Given the description of an element on the screen output the (x, y) to click on. 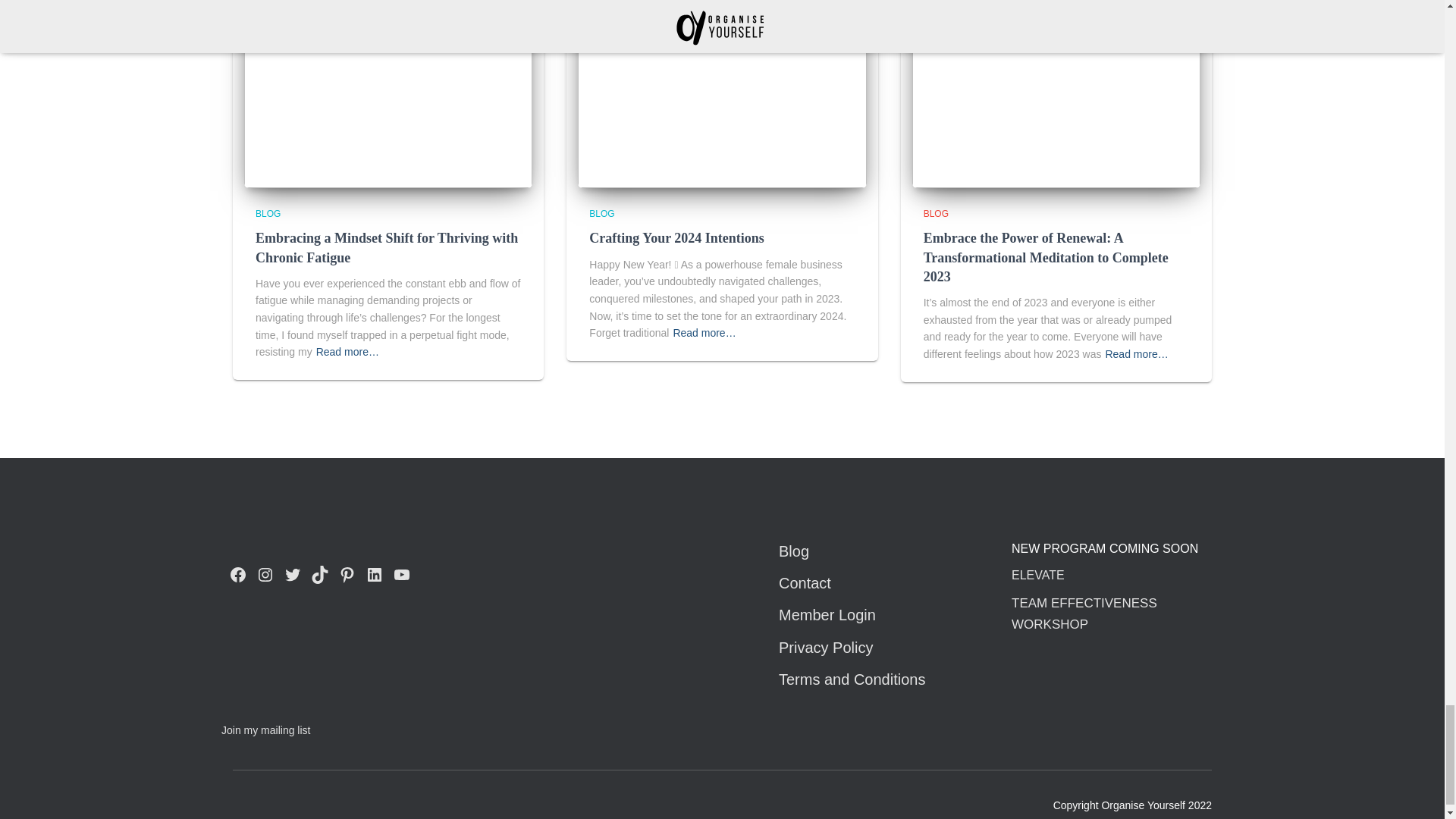
Embracing a Mindset Shift for Thriving with Chronic Fatigue (387, 247)
Crafting Your 2024 Intentions (676, 237)
BLOG (268, 213)
View all posts in Blog (601, 213)
View all posts in Blog (936, 213)
Crafting Your 2024 Intentions (722, 91)
View all posts in Blog (268, 213)
Embracing a Mindset Shift for Thriving with Chronic Fatigue (387, 247)
Embracing a Mindset Shift for Thriving with Chronic Fatigue (388, 91)
